Given the description of an element on the screen output the (x, y) to click on. 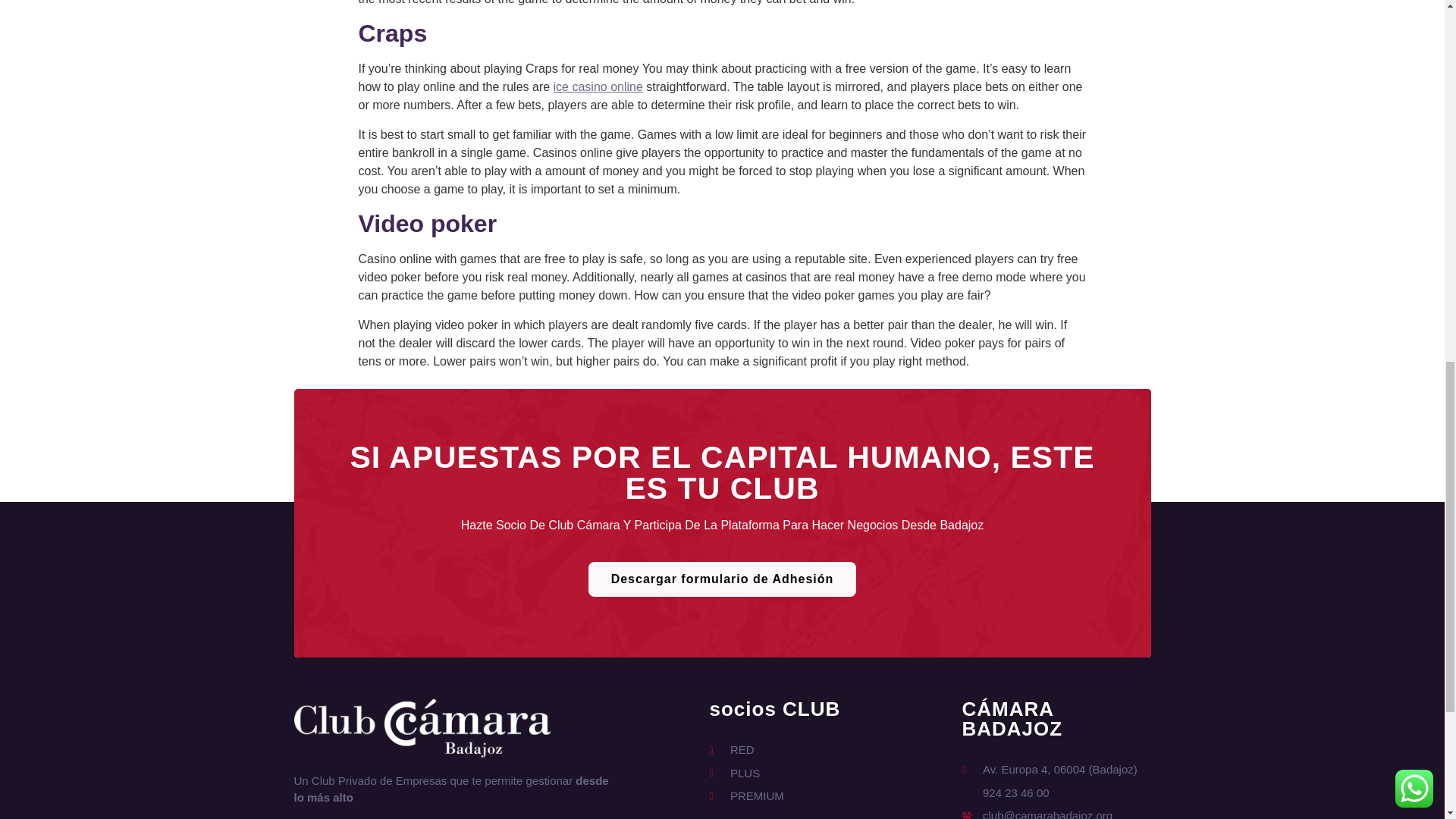
ice casino online (598, 86)
PLUS (746, 773)
924 23 46 00 (1048, 793)
RED (746, 750)
PREMIUM (746, 796)
